Given the description of an element on the screen output the (x, y) to click on. 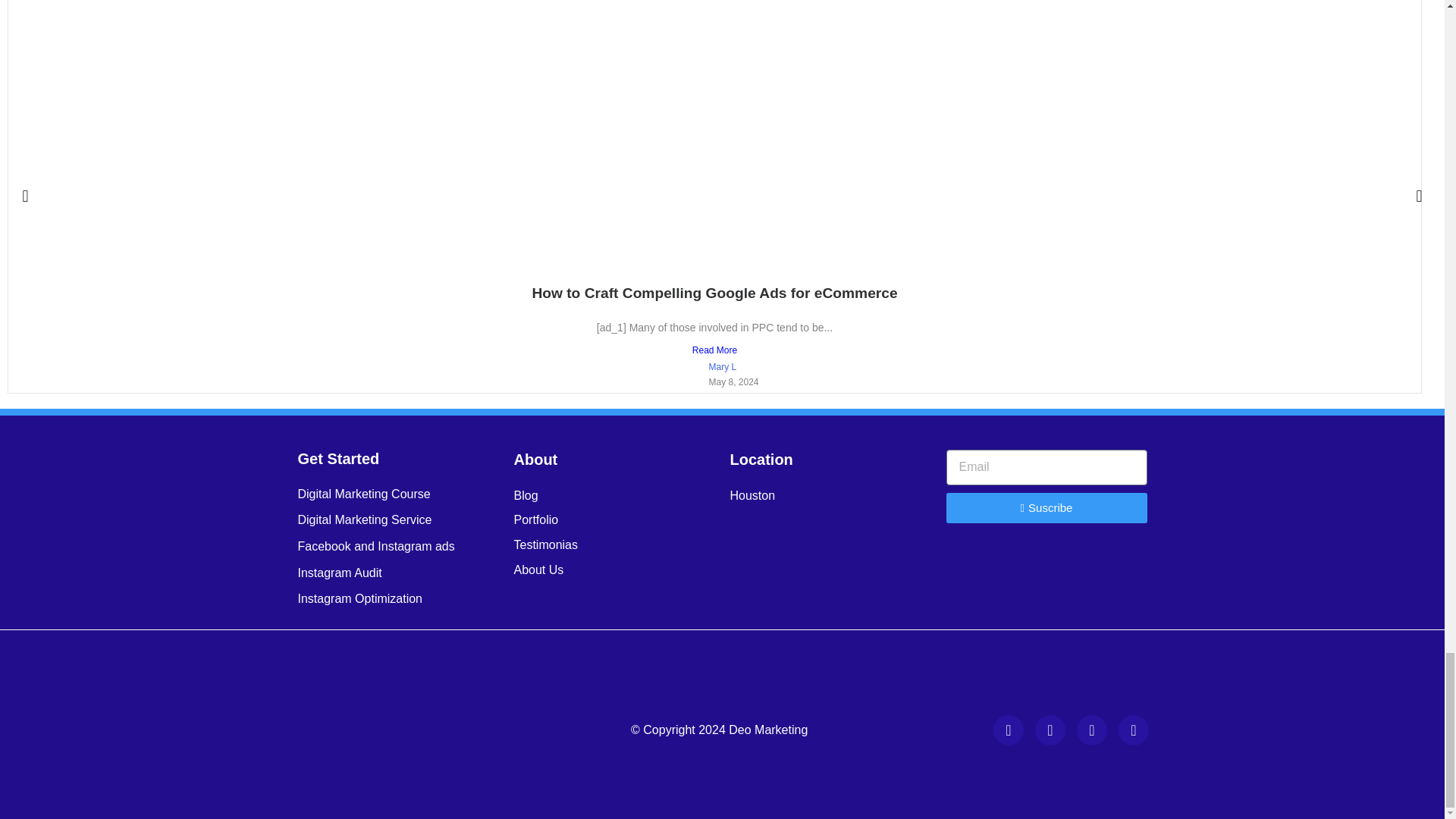
cropped-Marketing-1-e1568565041261.png (405, 730)
Posts by Mary L (721, 366)
How to Craft Compelling Google Ads for eCommerce (713, 293)
